Given the description of an element on the screen output the (x, y) to click on. 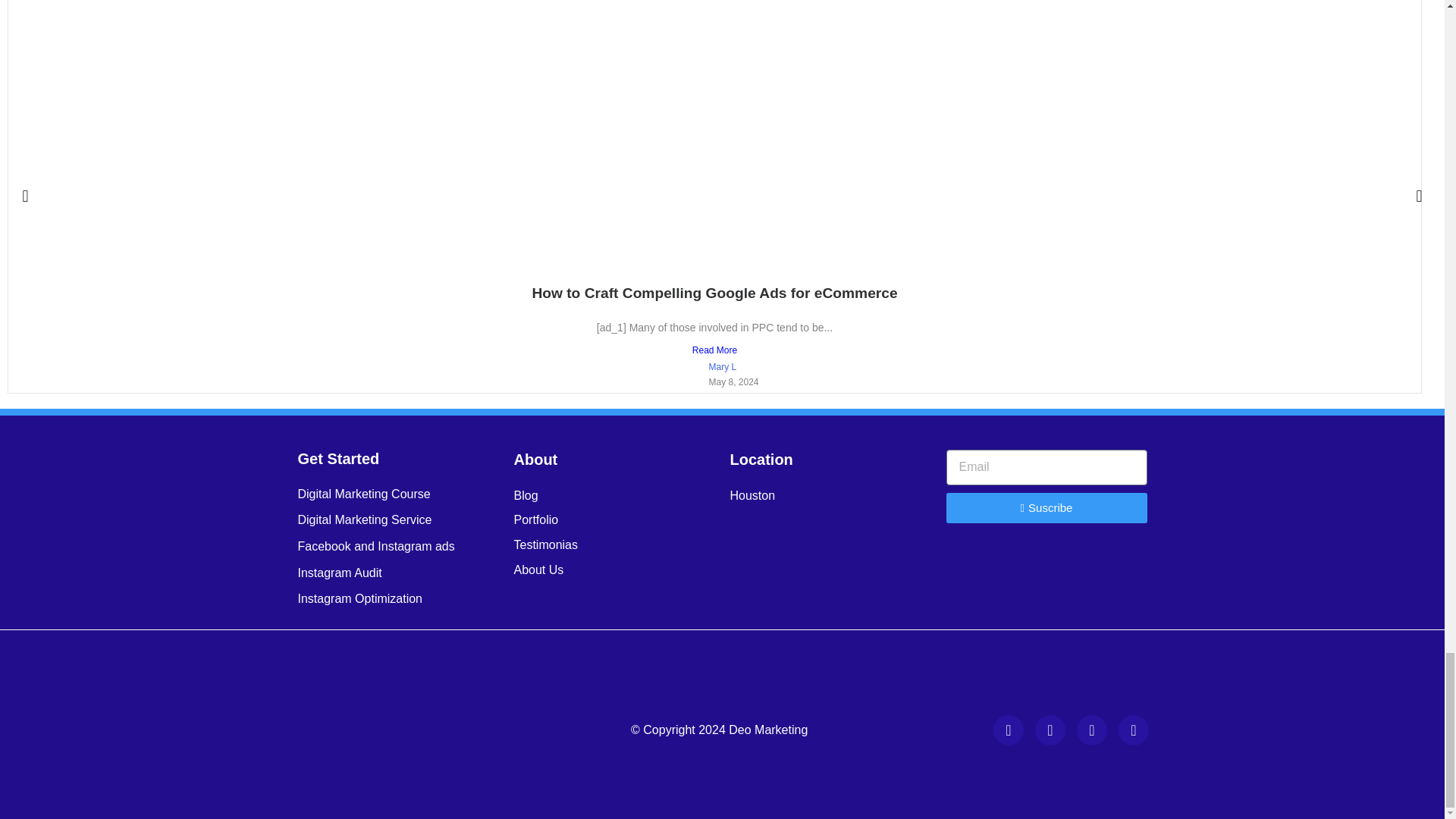
cropped-Marketing-1-e1568565041261.png (405, 730)
Posts by Mary L (721, 366)
How to Craft Compelling Google Ads for eCommerce (713, 293)
